Given the description of an element on the screen output the (x, y) to click on. 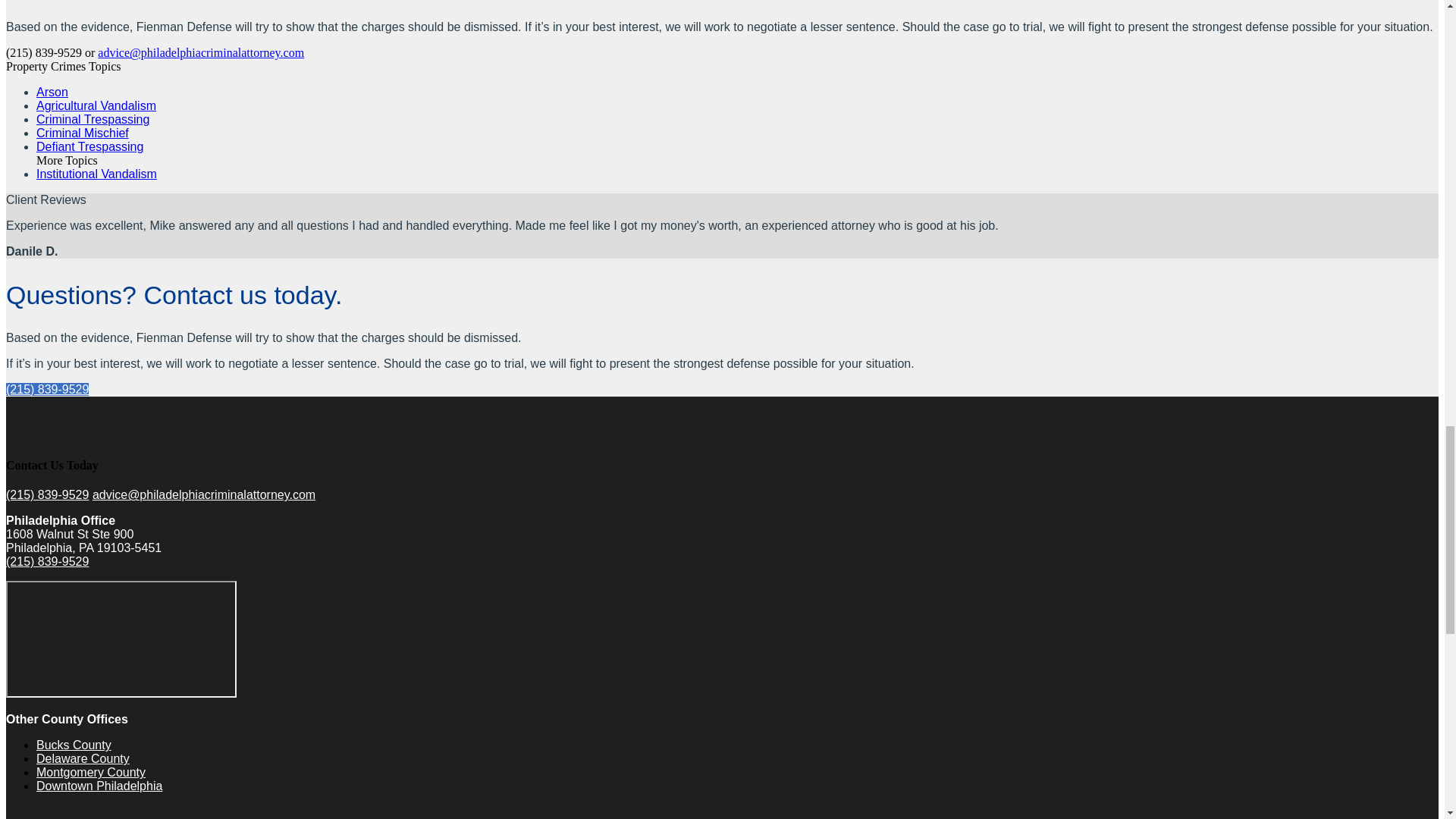
Criminal Trespassing (92, 119)
Institutional Vandalism (96, 173)
Email Today (204, 494)
Philadelphia County (62, 812)
Defiant Trespassing (89, 146)
Criminal Mischief (82, 132)
Email Fienman Defense today (200, 51)
Agricultural Vandalism (95, 105)
Arson (52, 91)
Call Today (46, 561)
